Given the description of an element on the screen output the (x, y) to click on. 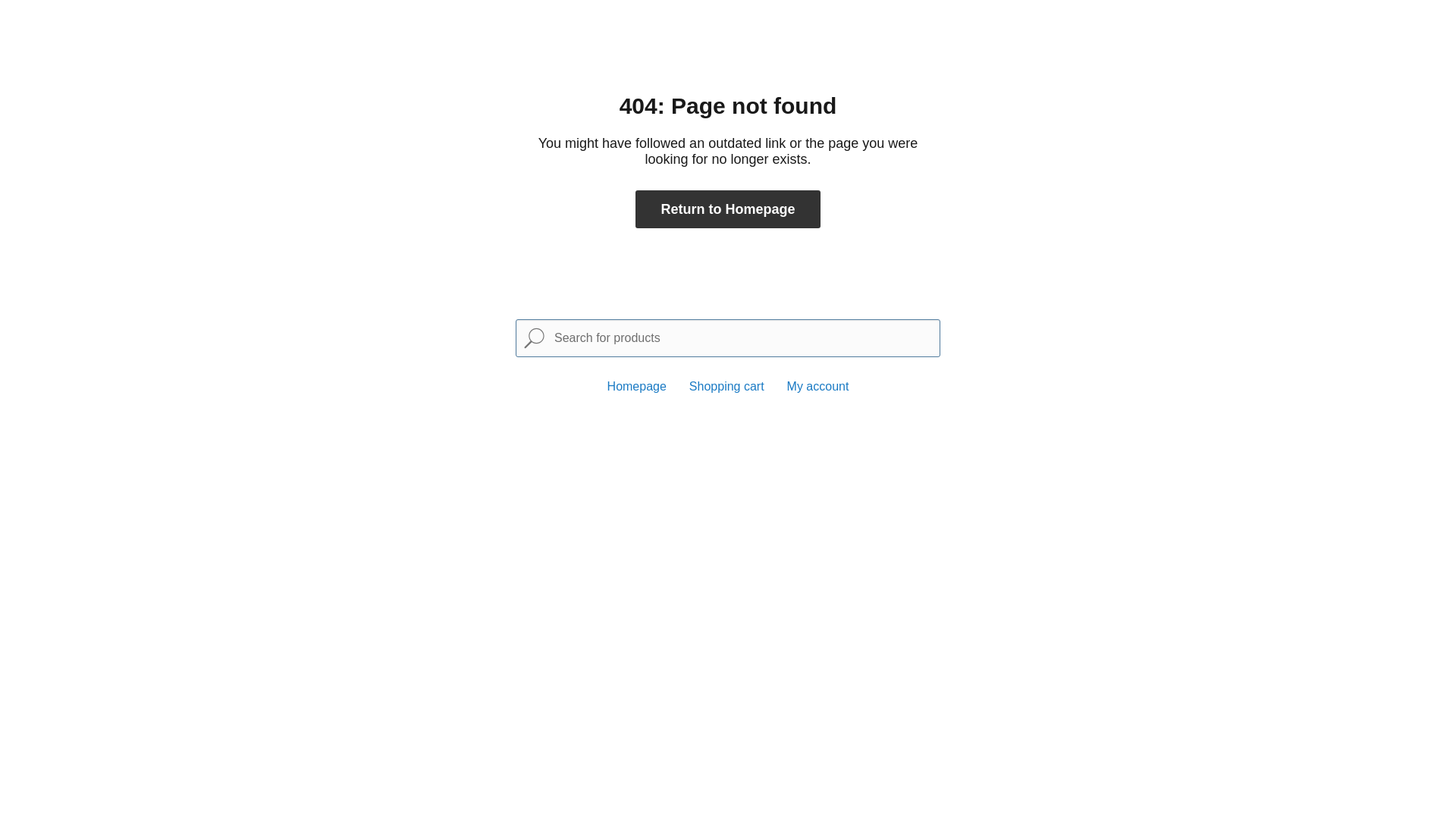
Return to Homepage Element type: text (727, 209)
My account Element type: text (818, 386)
Shopping cart Element type: text (726, 386)
Homepage Element type: text (636, 386)
